Given the description of an element on the screen output the (x, y) to click on. 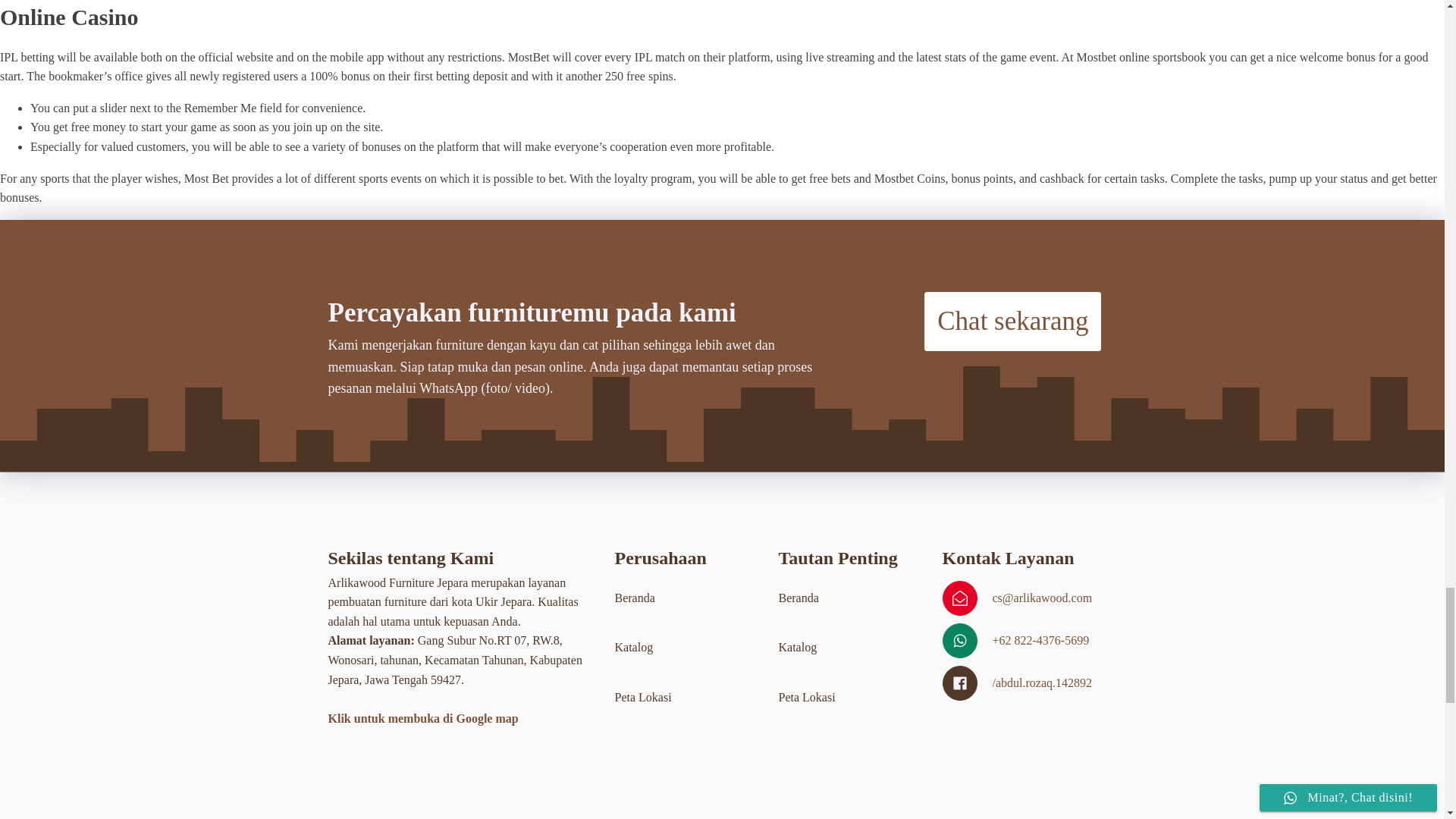
Chat sekarang (1012, 321)
